Given the description of an element on the screen output the (x, y) to click on. 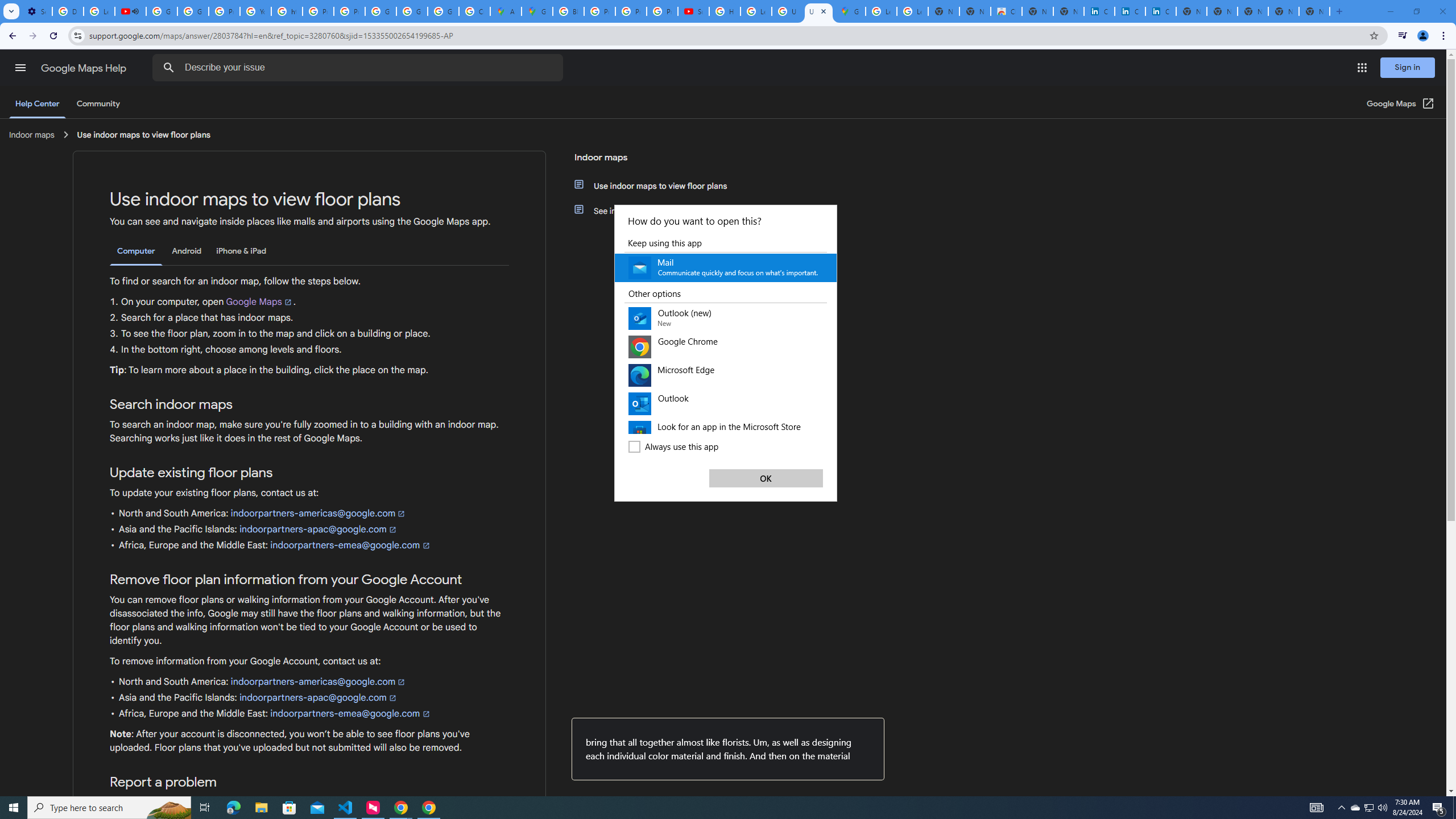
indoorpartners-americas@google.com (318, 681)
Microsoft Edge (725, 375)
indoorpartners-apac@google.com (317, 697)
Action Center, 5 new notifications (1439, 807)
Task View (1368, 807)
Create your Google Account (204, 807)
Google Maps (474, 11)
Main menu (259, 301)
Line up (20, 67)
Google Chrome - 3 running windows (832, 246)
